Given the description of an element on the screen output the (x, y) to click on. 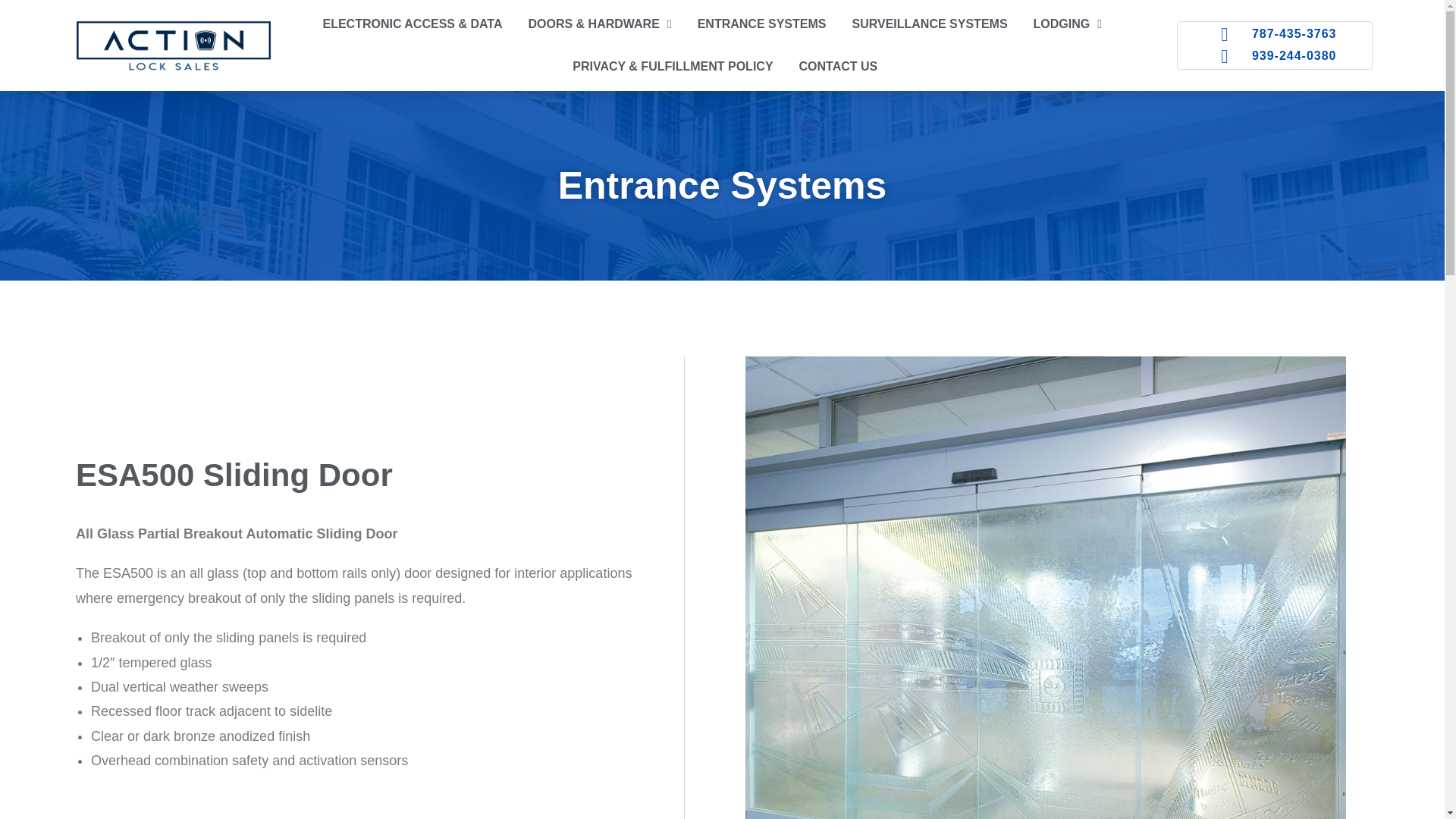
LODGING (1067, 24)
ENTRANCE SYSTEMS (762, 24)
SURVEILLANCE SYSTEMS (929, 24)
787-435-3763 (1274, 34)
CONTACT US (838, 66)
939-244-0380 (1274, 56)
